Given the description of an element on the screen output the (x, y) to click on. 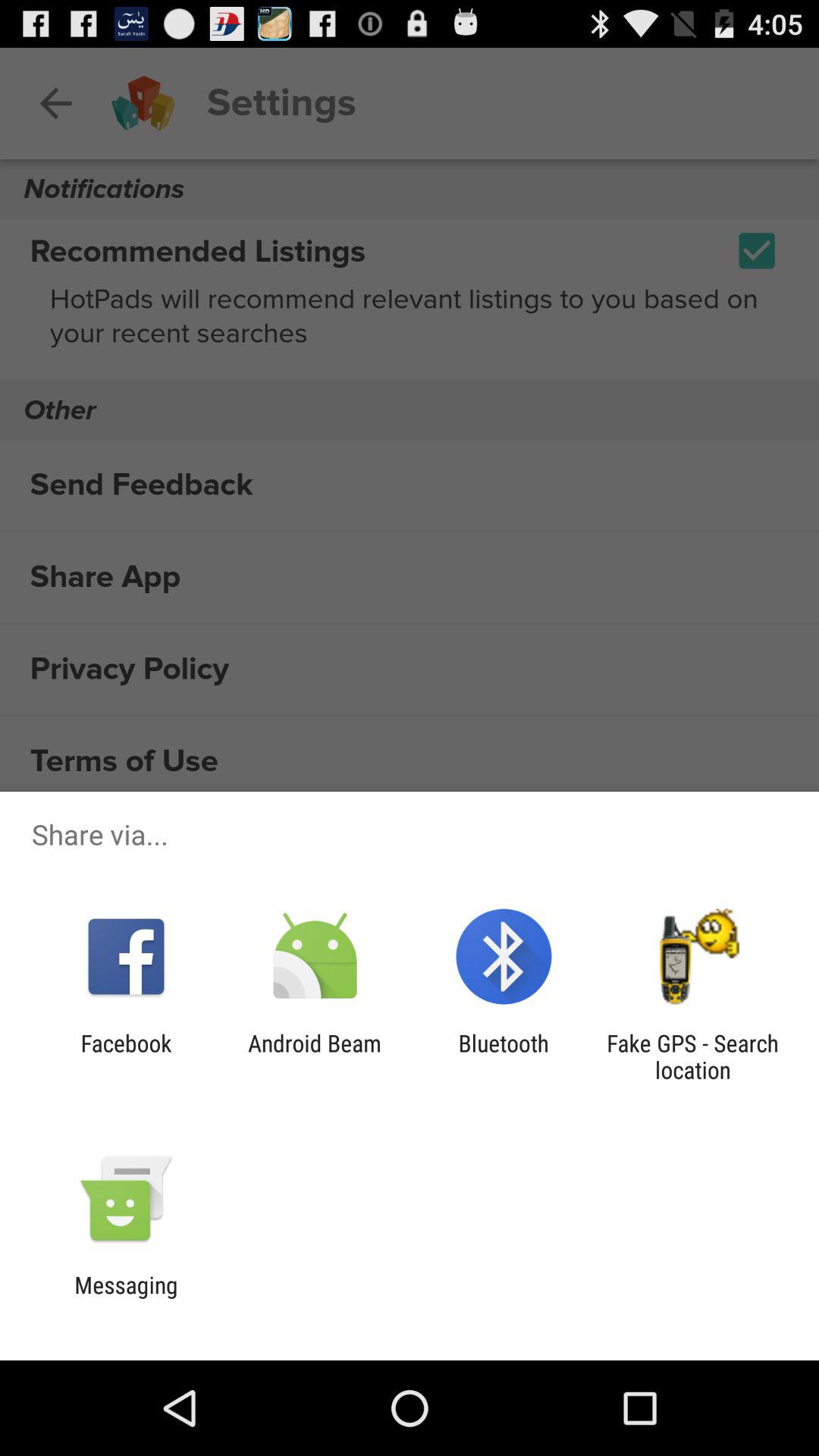
select item to the left of android beam icon (125, 1056)
